Given the description of an element on the screen output the (x, y) to click on. 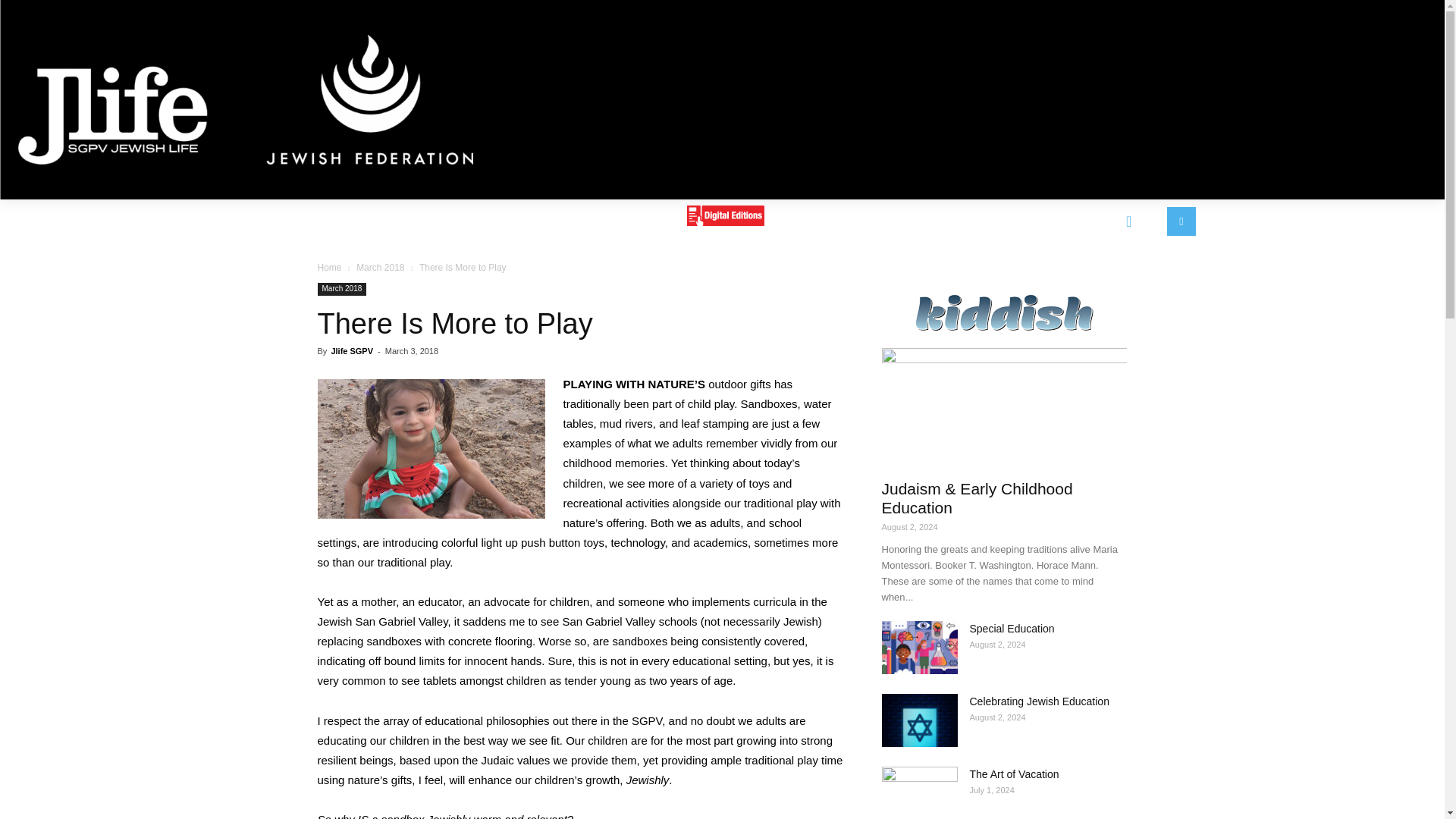
View all posts in March 2018 (380, 267)
Home (328, 267)
ADVERTISE (529, 219)
Jlife SGPV (351, 350)
JLIFEOC (1011, 219)
SUBSCRIBE (628, 219)
March 2018 (341, 288)
ABOUT US (435, 219)
Jlife SGPV Logo (245, 99)
CONTACT US (828, 219)
